Given the description of an element on the screen output the (x, y) to click on. 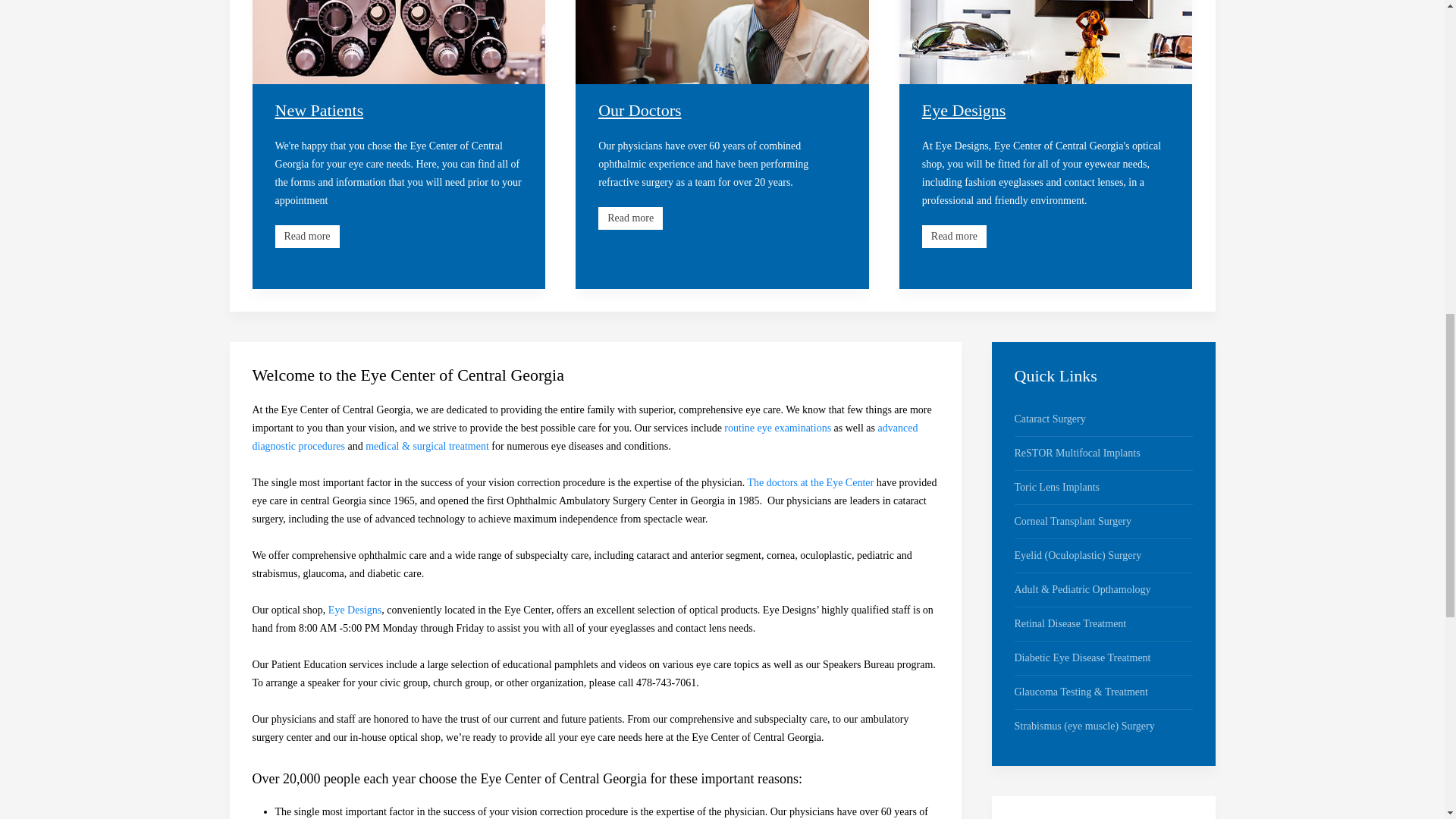
Our Doctors (722, 42)
Eye Designs (1045, 42)
New Patients (397, 42)
